Given the description of an element on the screen output the (x, y) to click on. 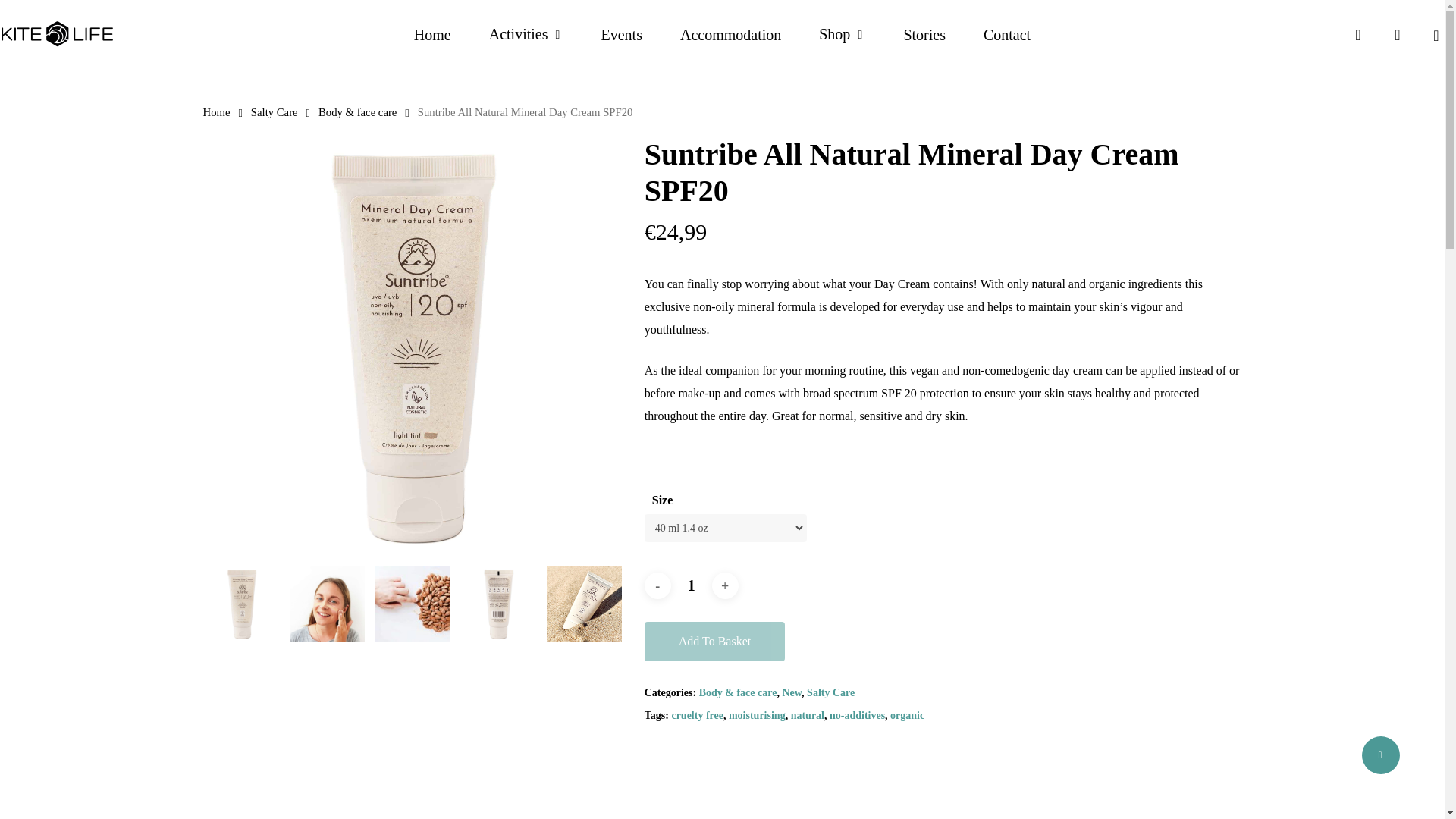
Contact (1006, 34)
Accommodation (730, 34)
- (658, 585)
Home (432, 34)
1 (691, 585)
Activities (526, 34)
search (1358, 35)
Stories (923, 34)
Events (621, 34)
Shop (841, 34)
